Given the description of an element on the screen output the (x, y) to click on. 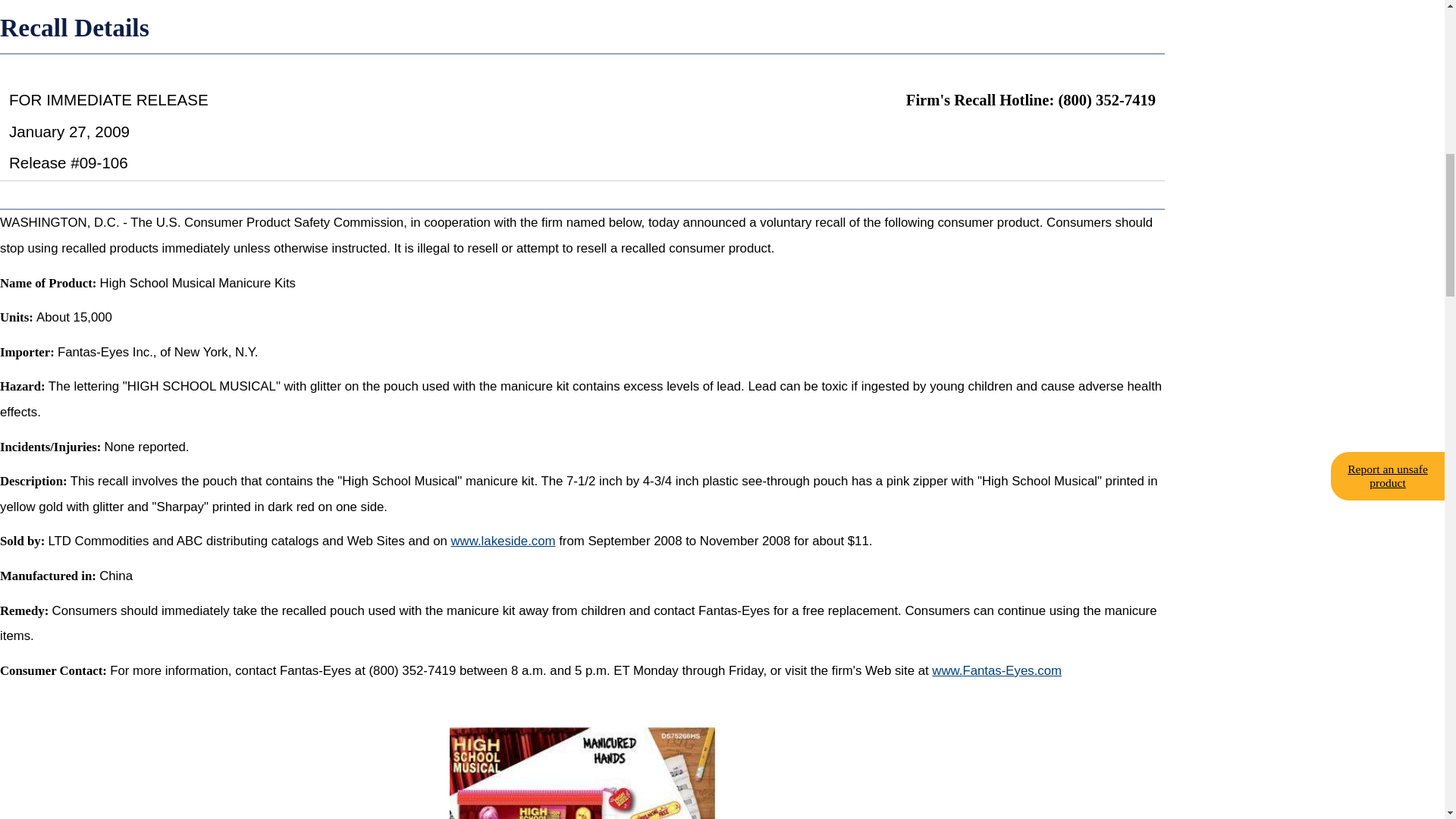
Picture of Recalled High School Musical Manicure Kit (581, 773)
www.lakeside.com (501, 541)
www.Fantas-Eyes.com (996, 670)
